Given the description of an element on the screen output the (x, y) to click on. 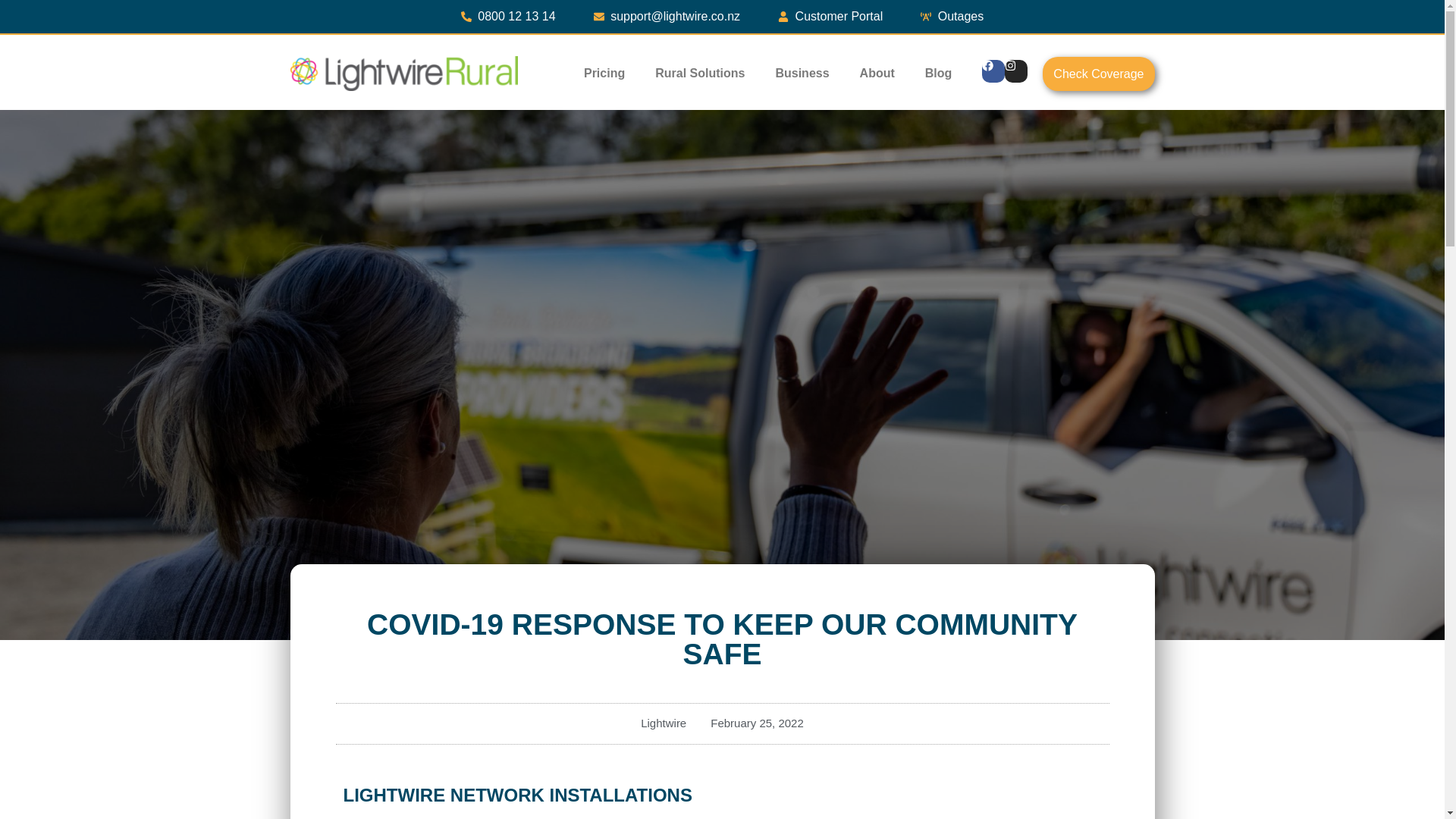
Pricing (604, 73)
Customer Portal (829, 16)
Outages (952, 16)
Blog (939, 73)
Rural Solutions (700, 73)
0800 12 13 14 (508, 16)
About (877, 73)
Business (802, 73)
